Given the description of an element on the screen output the (x, y) to click on. 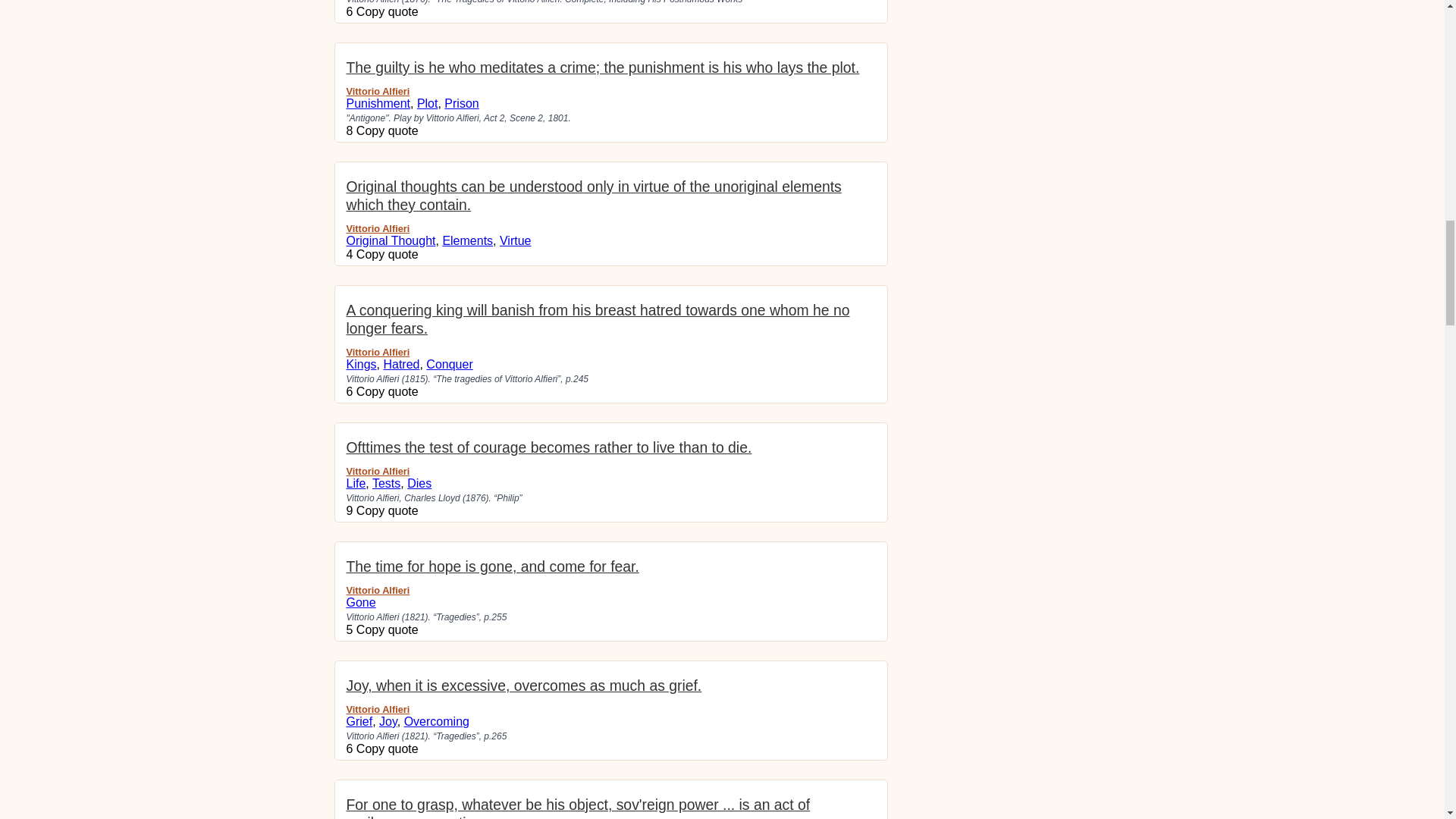
Quote is copied (387, 748)
Quote is copied (387, 391)
Quote is copied (387, 11)
Quote is copied (387, 629)
Quote is copied (387, 510)
Quote is copied (387, 254)
Quote is copied (387, 130)
